Given the description of an element on the screen output the (x, y) to click on. 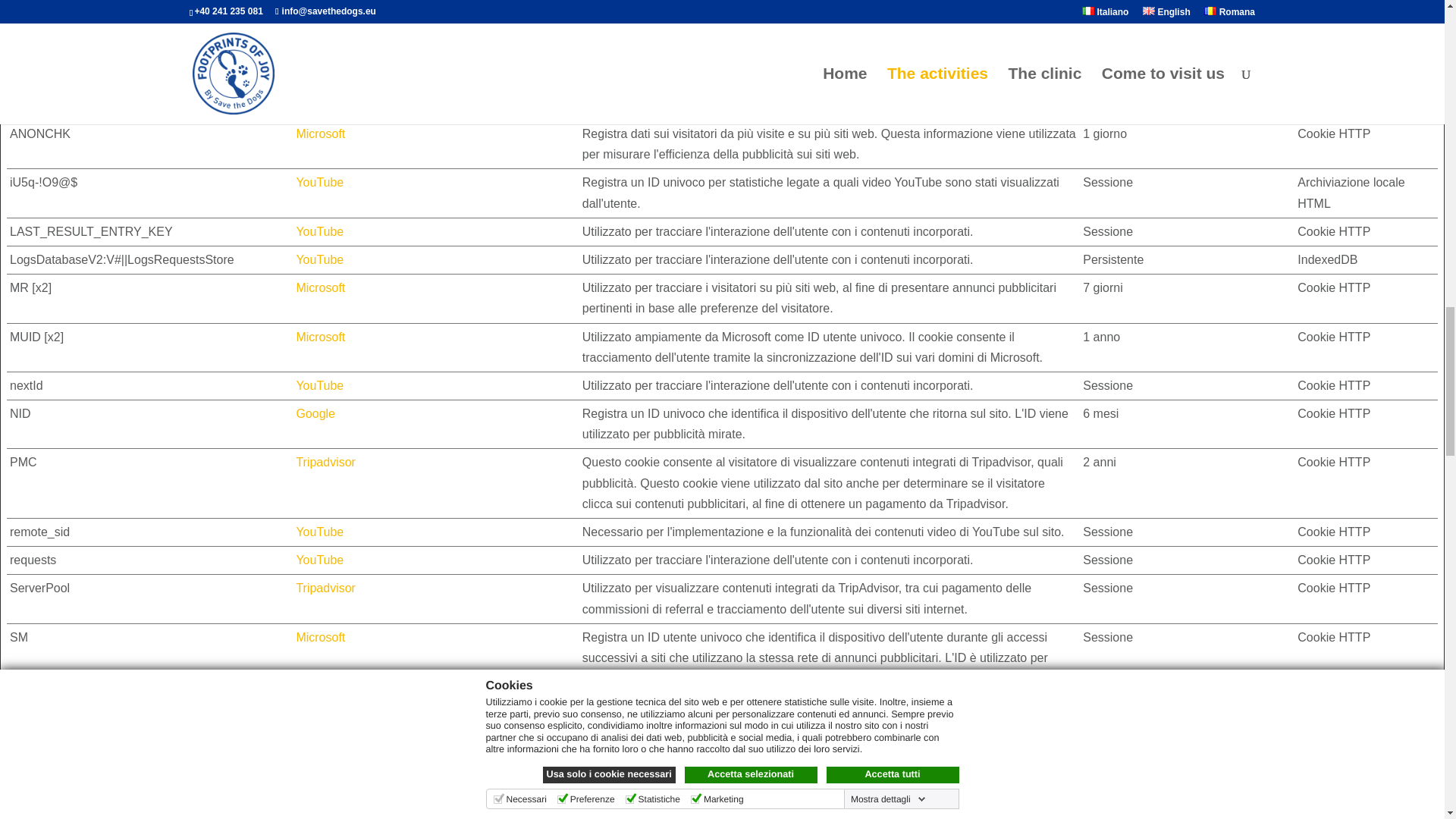
YouTube (319, 35)
YouTube (319, 259)
Tripadvisor (325, 818)
YouTube (319, 182)
Tripadvisor (325, 84)
l'informativa sulla privacy di YouTube (319, 182)
Microsoft (320, 706)
Tripadvisor (325, 755)
Tripadvisor (325, 461)
Microsoft (320, 636)
